Given the description of an element on the screen output the (x, y) to click on. 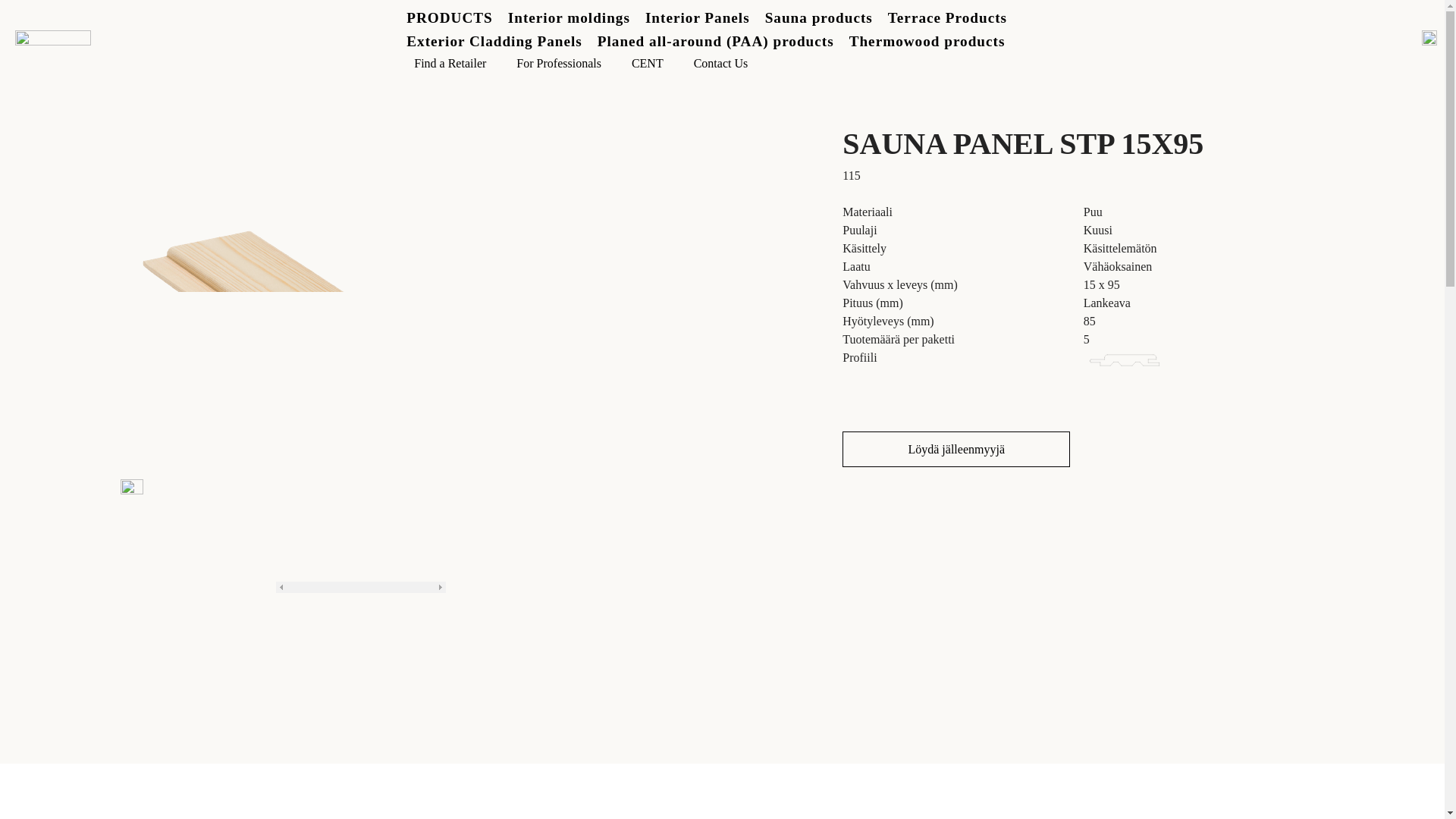
Sauna products (818, 17)
Interior Panels (697, 17)
Terrace Products (947, 17)
Thermowood products (927, 41)
Exterior Cladding Panels (494, 41)
Interior moldings (569, 17)
PRODUCTS (449, 17)
